Given the description of an element on the screen output the (x, y) to click on. 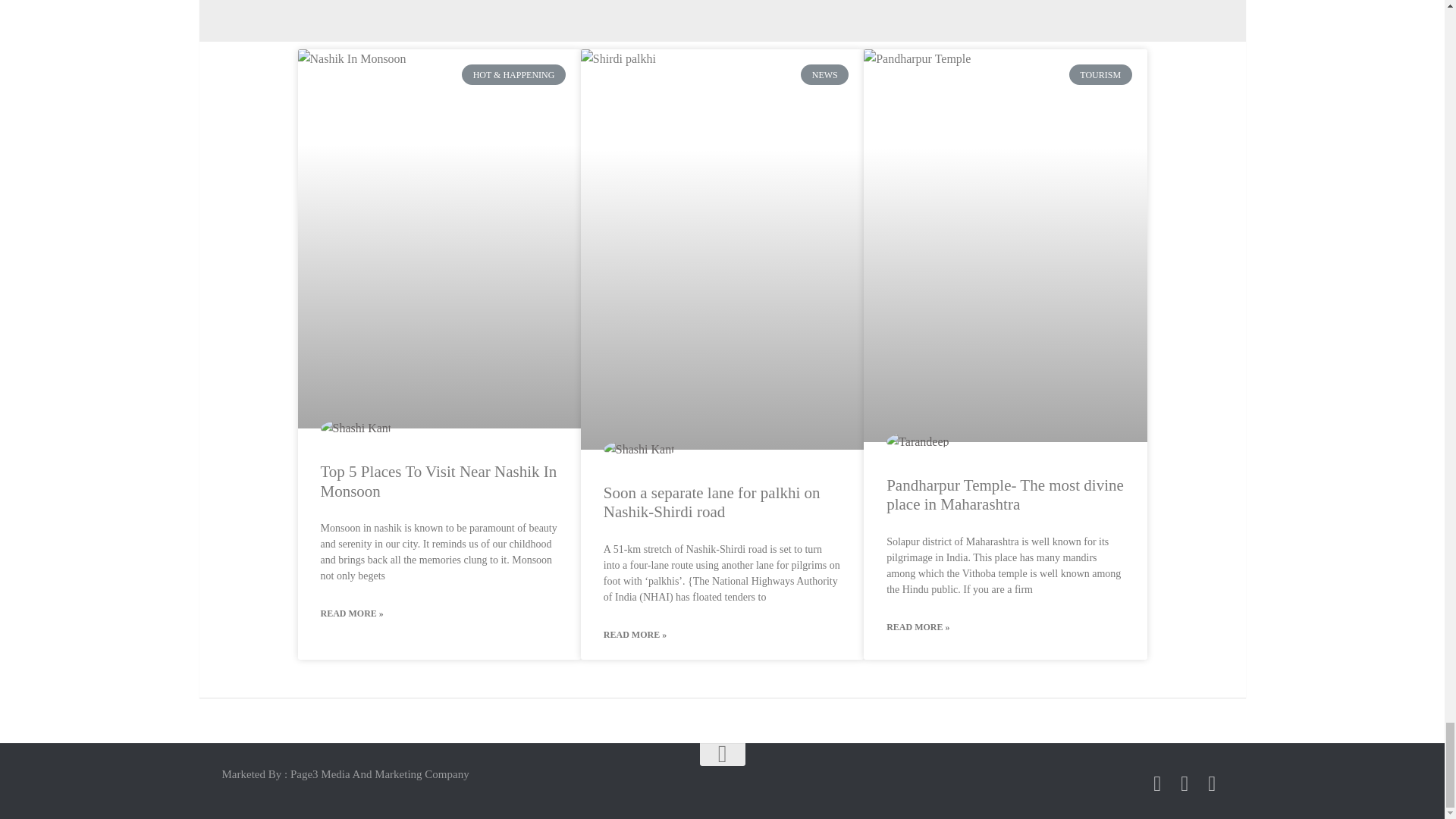
Follow us on Facebook (1157, 783)
Follow us on Twitter (1184, 783)
Follow us on Youtube (1212, 783)
